Given the description of an element on the screen output the (x, y) to click on. 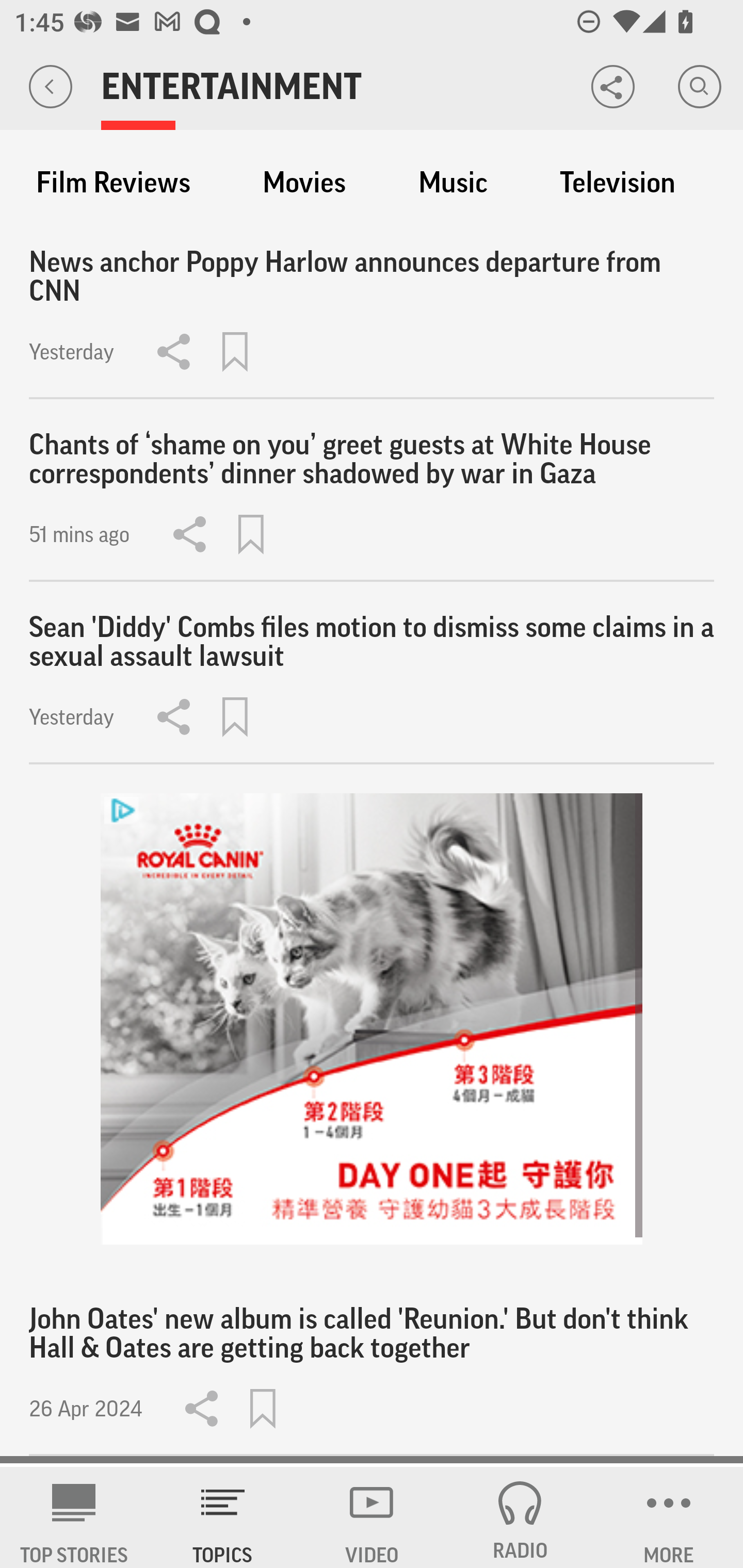
Film Reviews (112, 182)
Movies (304, 182)
Music (452, 182)
Television (617, 182)
ooulh2nc_300x250 (371, 1018)
AP News TOP STORIES (74, 1517)
TOPICS (222, 1517)
VIDEO (371, 1517)
RADIO (519, 1517)
MORE (668, 1517)
